Given the description of an element on the screen output the (x, y) to click on. 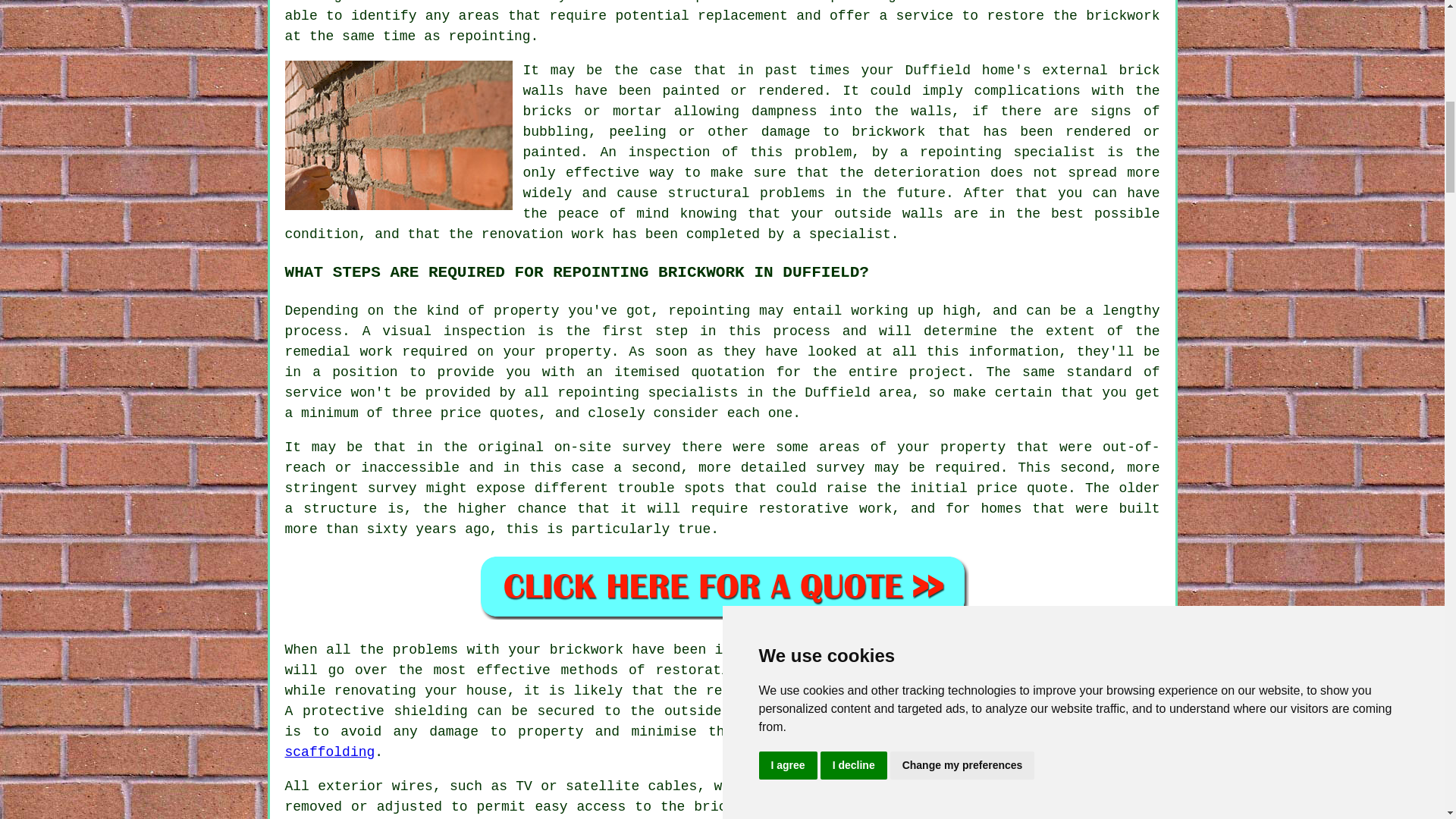
Quotes for Repointing Duffield (722, 586)
brick walls (841, 80)
Repointing Brickwork Duffield (398, 134)
brick repointing (828, 1)
repointing (708, 310)
